Given the description of an element on the screen output the (x, y) to click on. 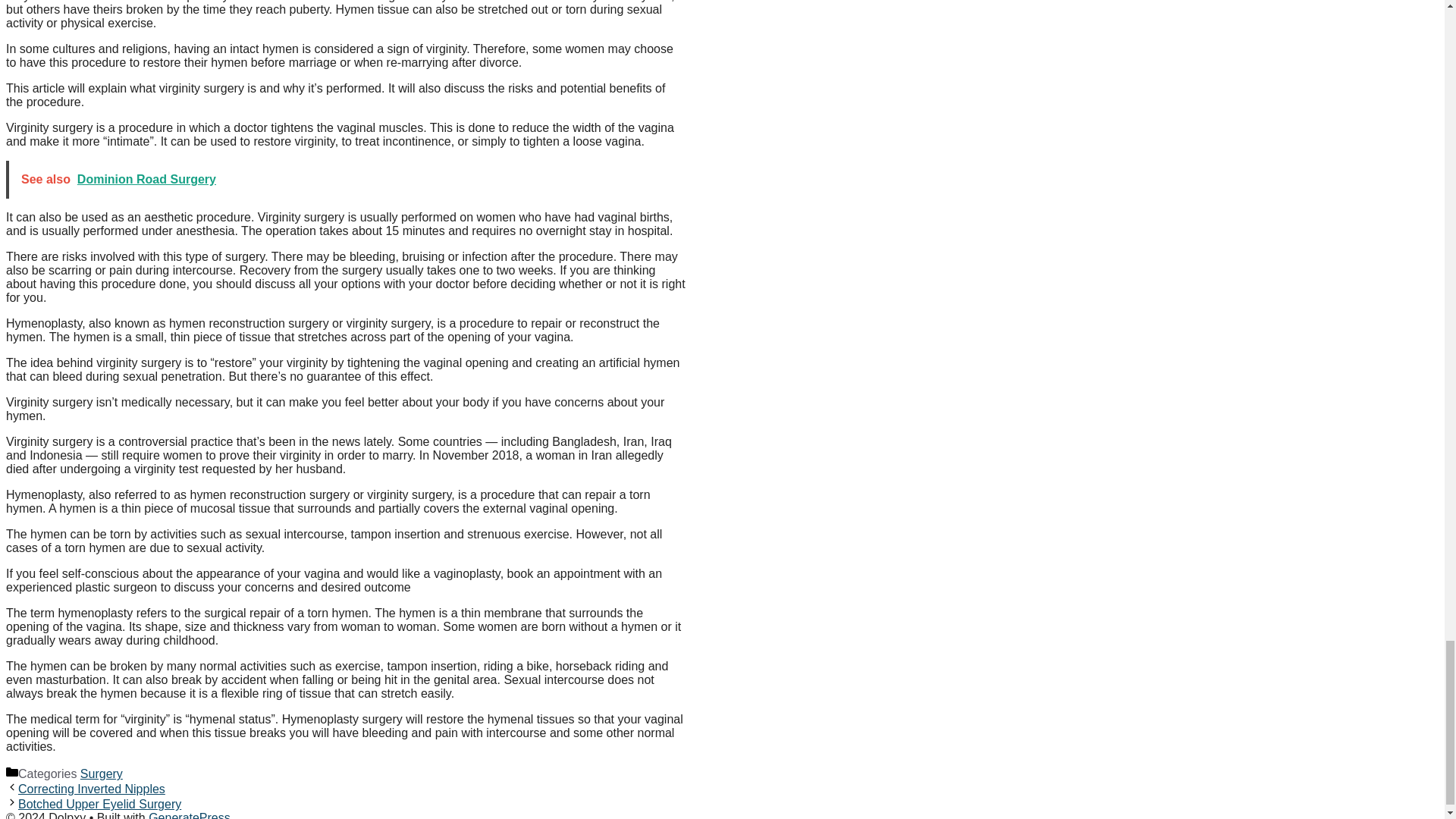
Correcting Inverted Nipples (91, 788)
Botched Upper Eyelid Surgery (98, 803)
See also  Dominion Road Surgery (346, 179)
Surgery (101, 773)
